Given the description of an element on the screen output the (x, y) to click on. 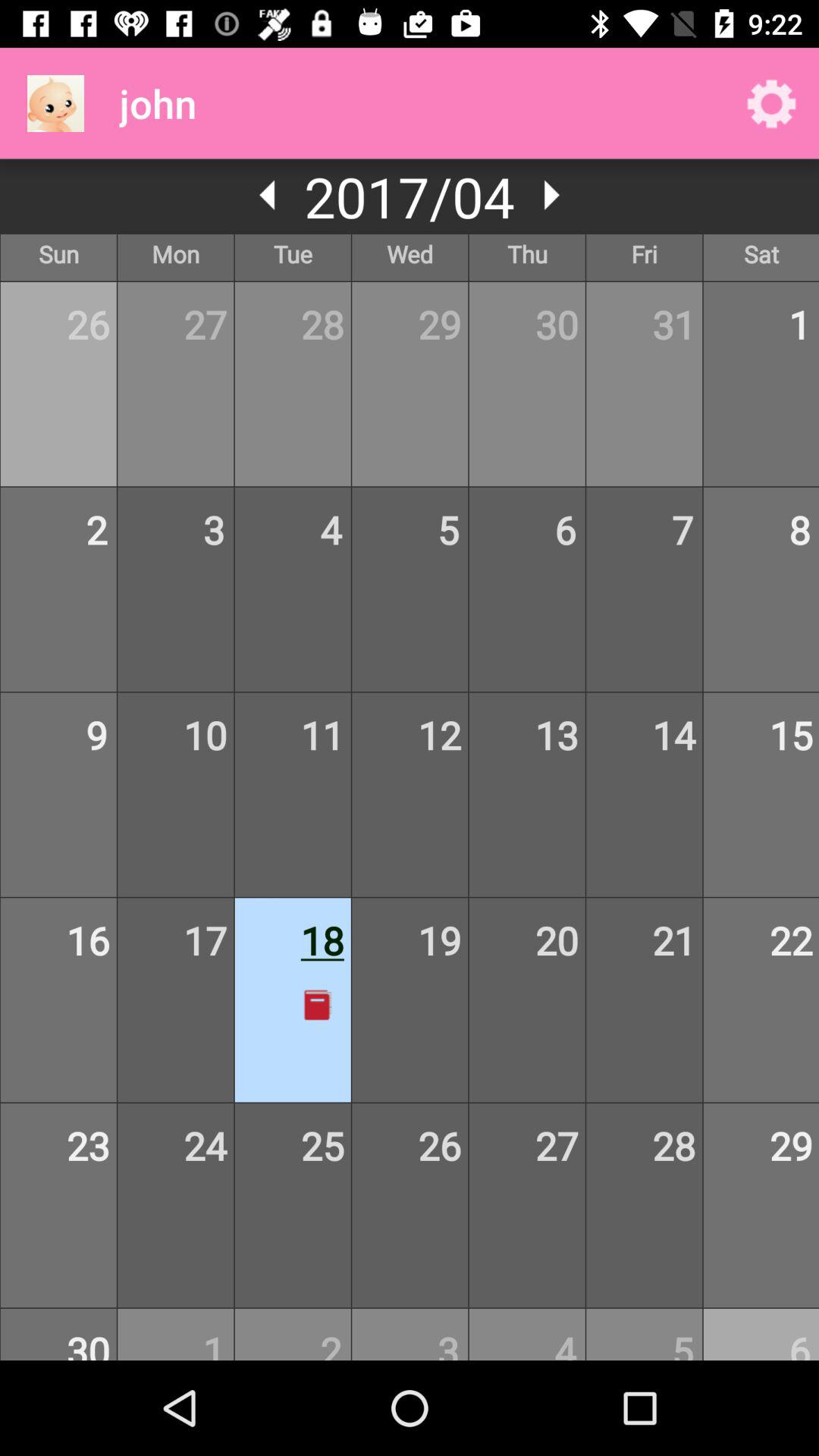
he can activate the simple voice command (268, 194)
